Given the description of an element on the screen output the (x, y) to click on. 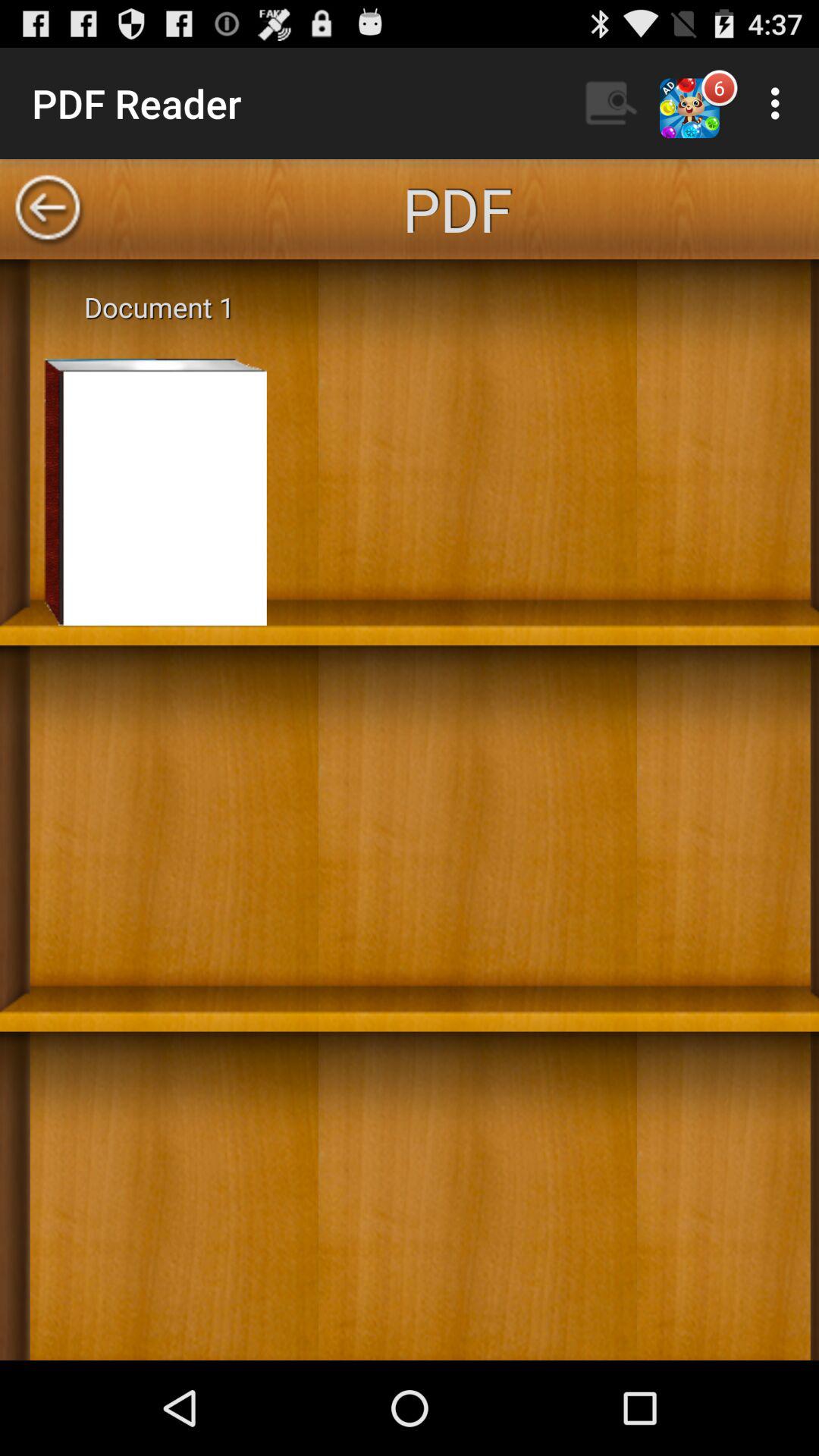
go back (47, 209)
